Given the description of an element on the screen output the (x, y) to click on. 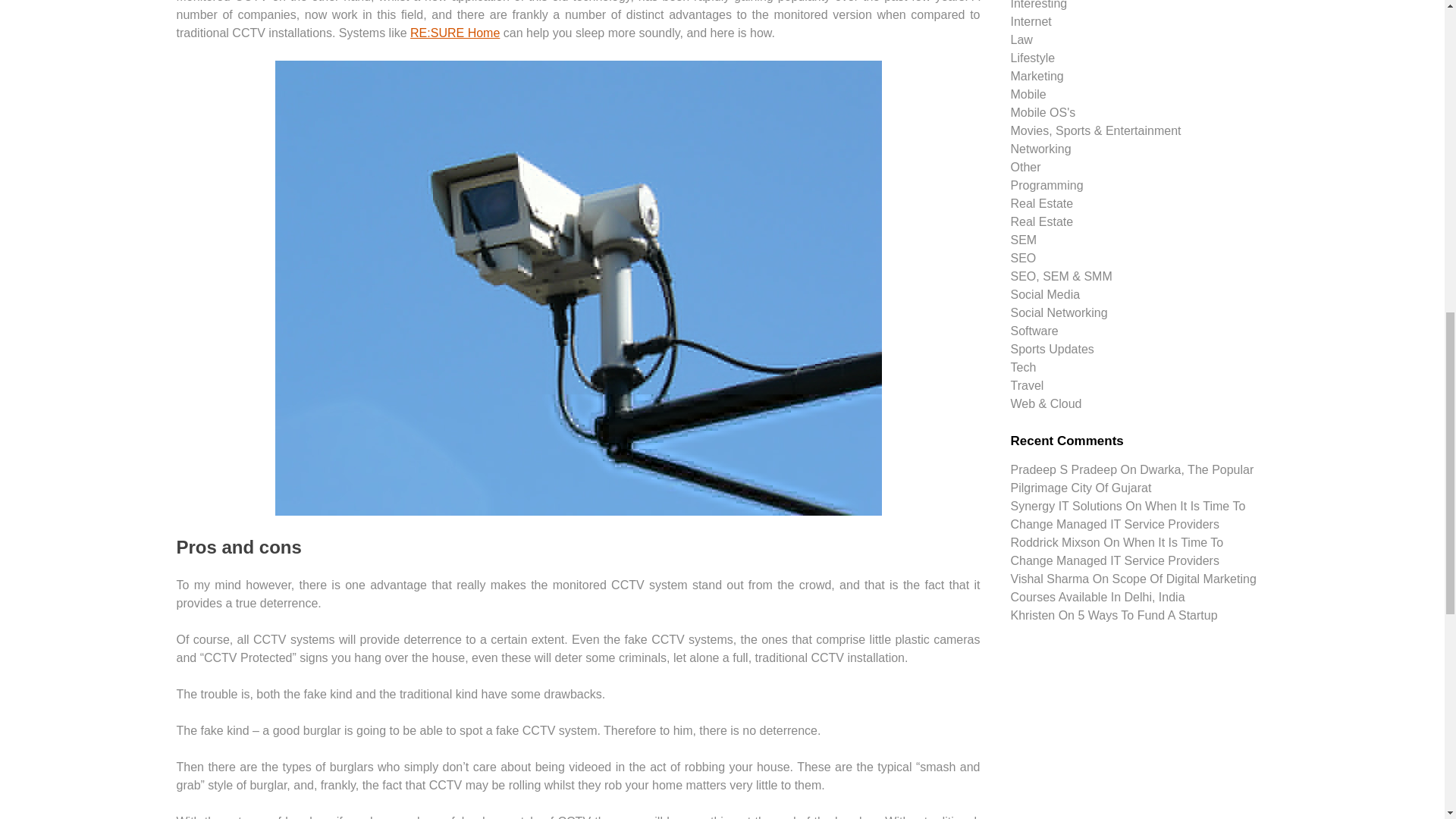
RE:SURE Home (454, 32)
